Given the description of an element on the screen output the (x, y) to click on. 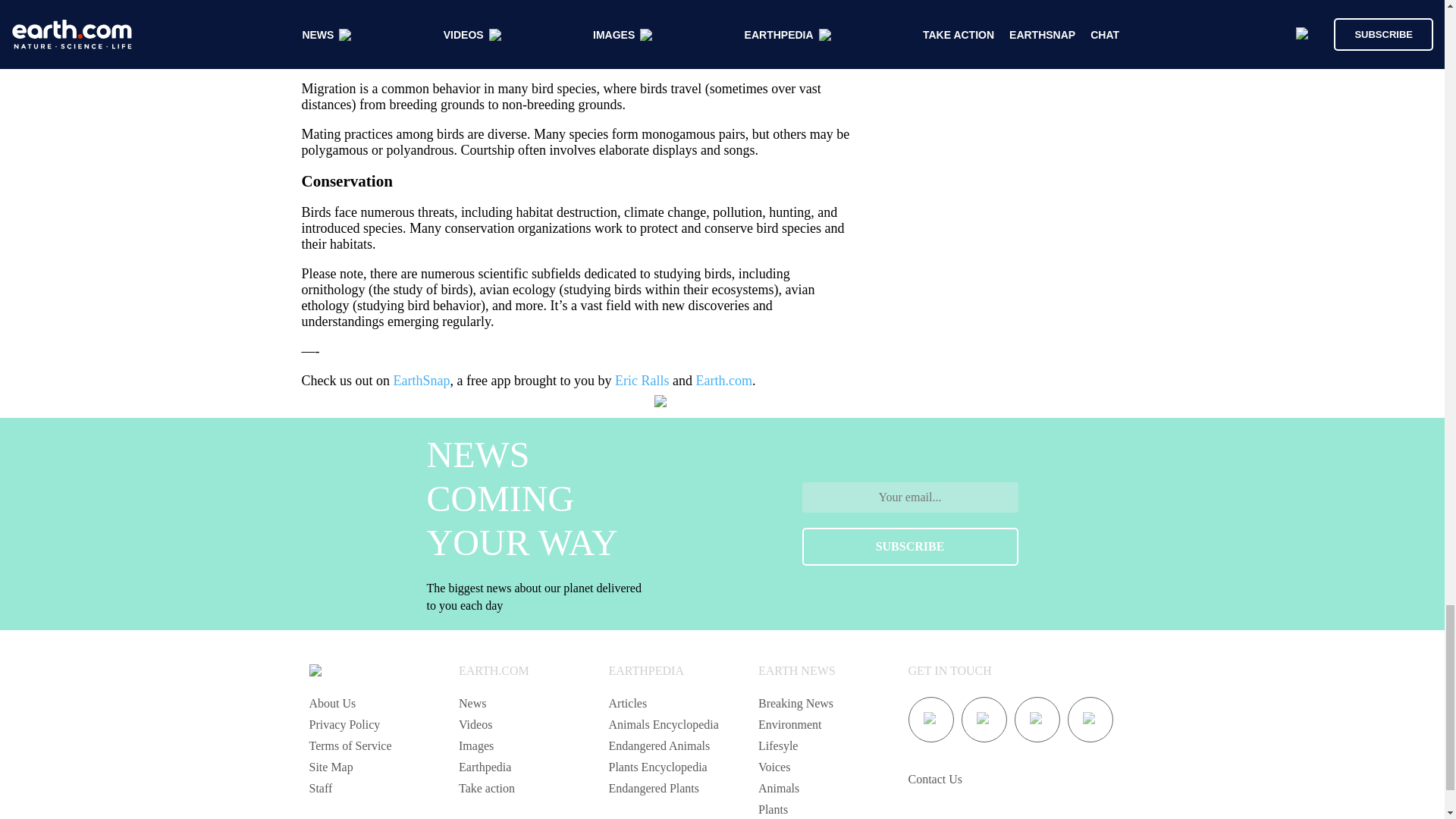
Eric Ralls (641, 380)
Earth.com (723, 380)
EarthSnap (421, 380)
